Given the description of an element on the screen output the (x, y) to click on. 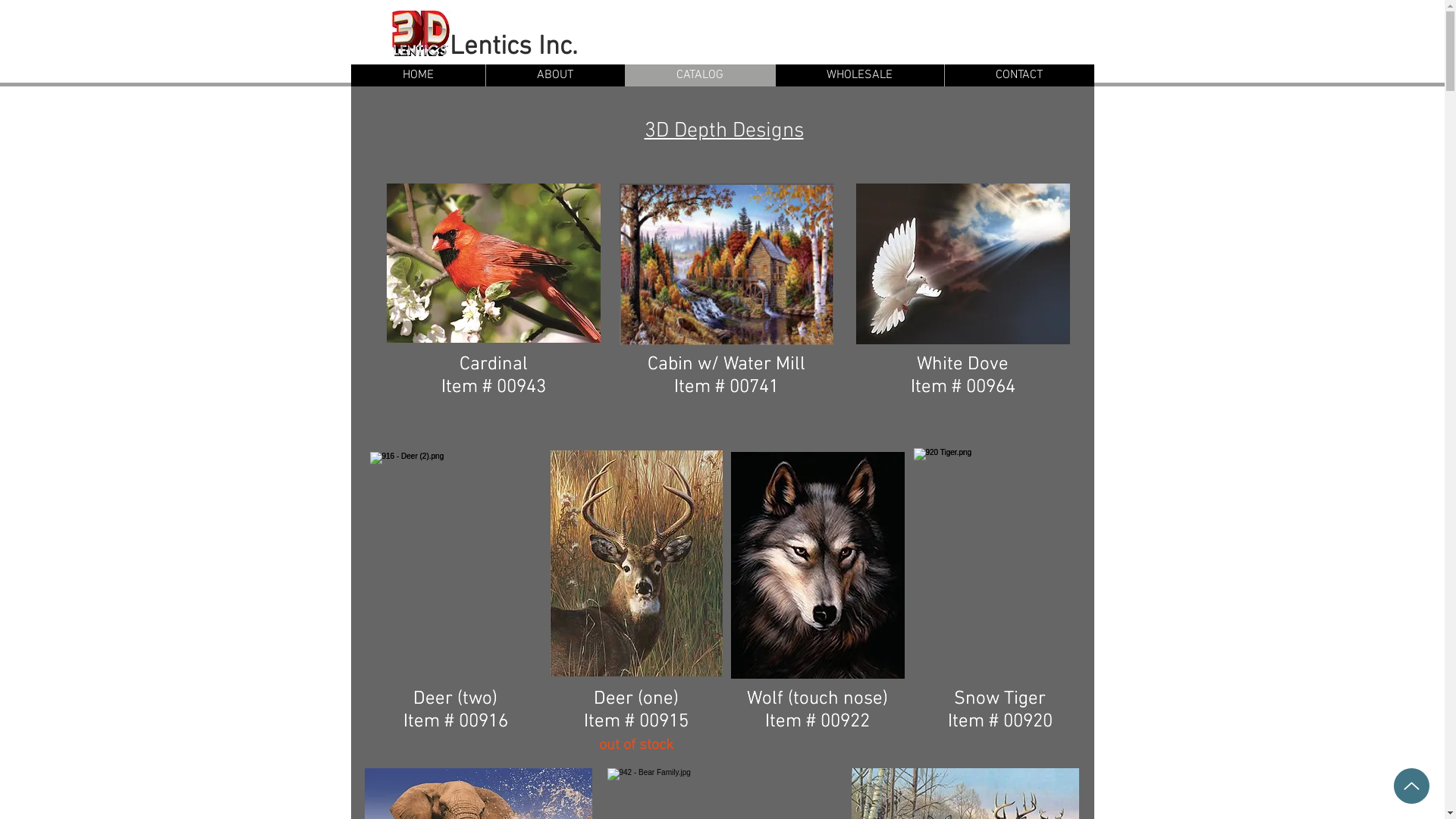
HOME Element type: text (417, 75)
WHOLESALE Element type: text (859, 75)
CONTACT Element type: text (1018, 75)
Lentics Inc. Element type: text (512, 46)
CATALOG Element type: text (699, 75)
ABOUT Element type: text (554, 75)
